Given the description of an element on the screen output the (x, y) to click on. 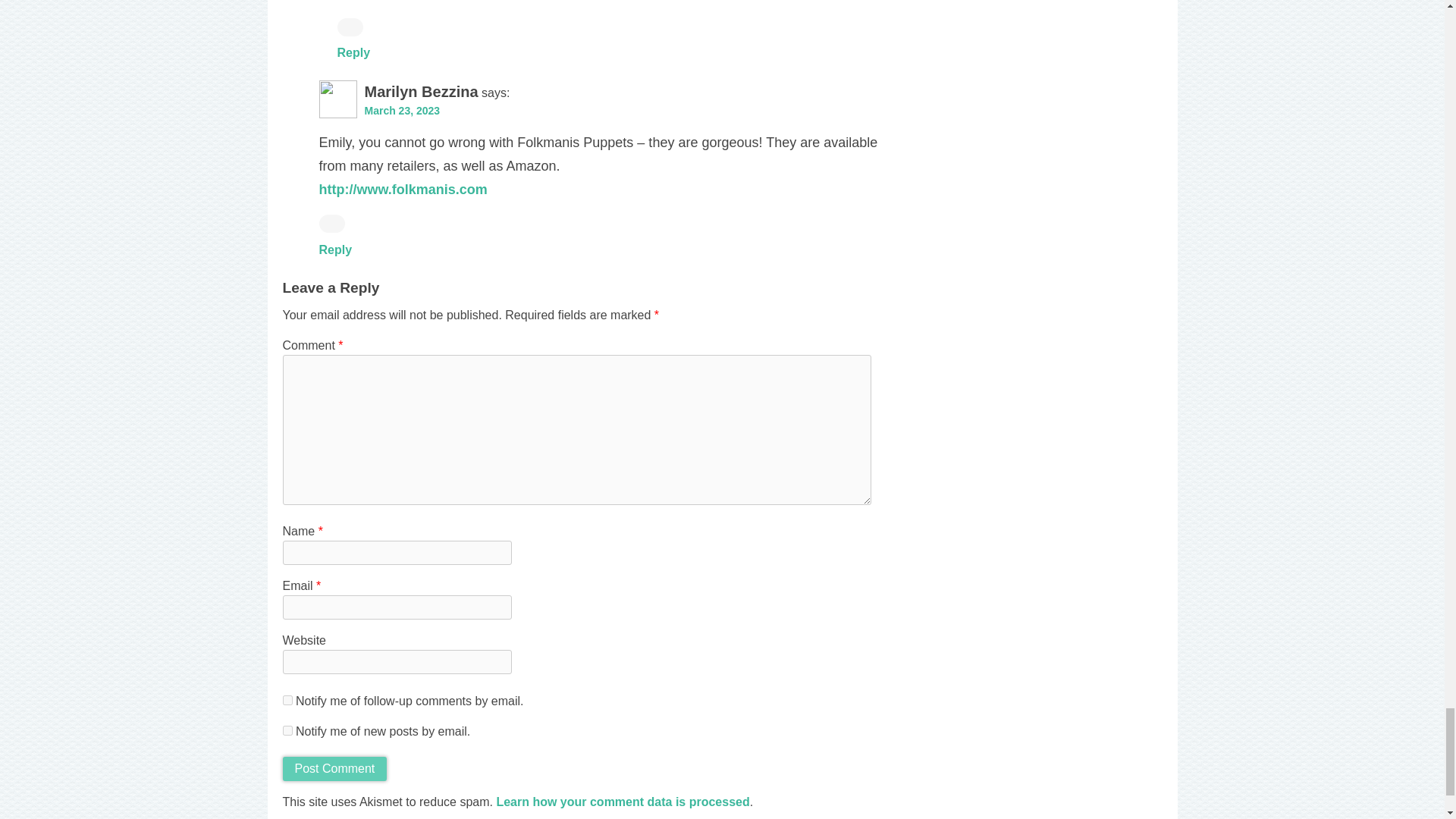
Post Comment (334, 768)
subscribe (287, 700)
subscribe (287, 730)
